Given the description of an element on the screen output the (x, y) to click on. 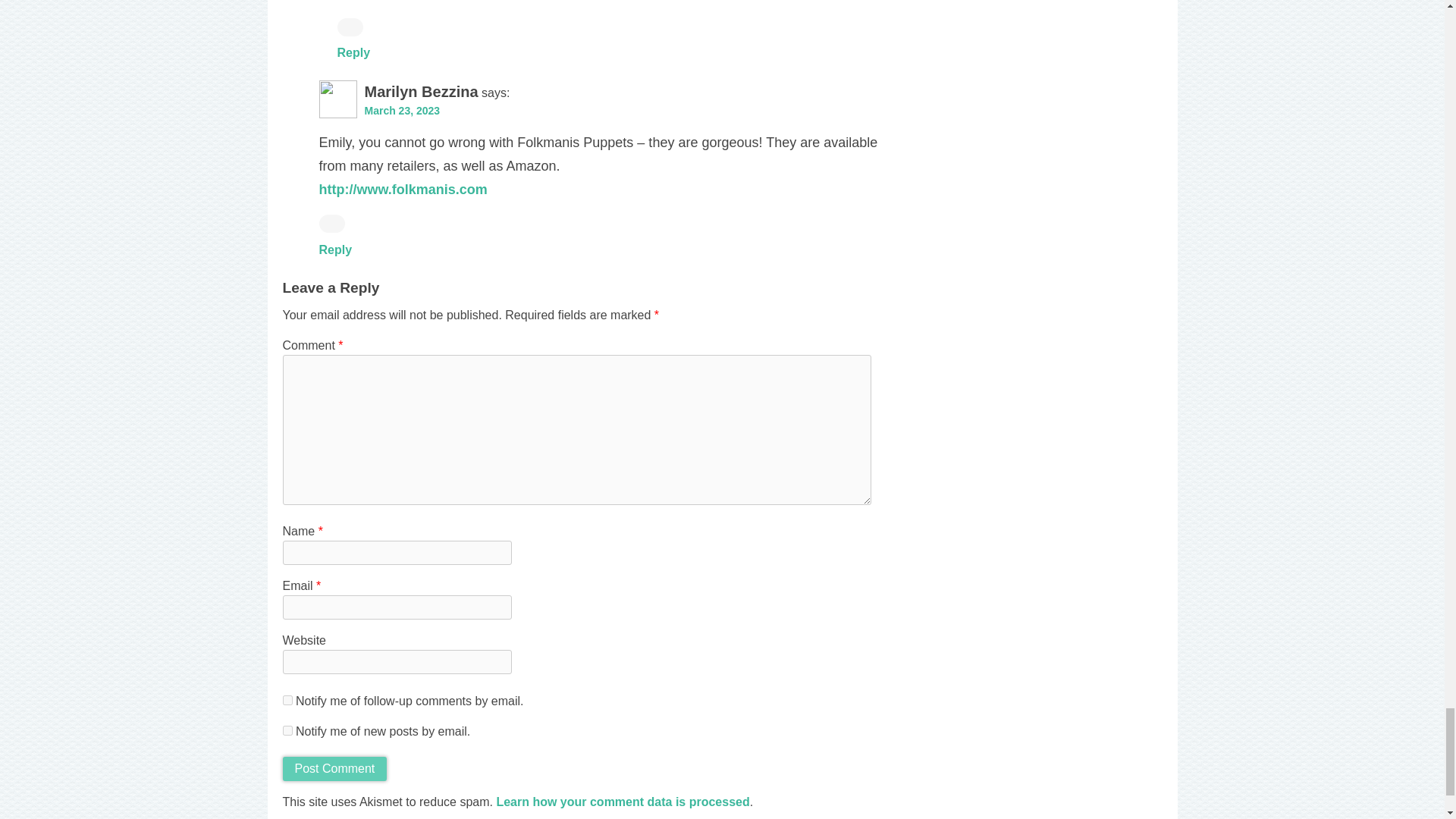
Post Comment (334, 768)
subscribe (287, 700)
subscribe (287, 730)
